Given the description of an element on the screen output the (x, y) to click on. 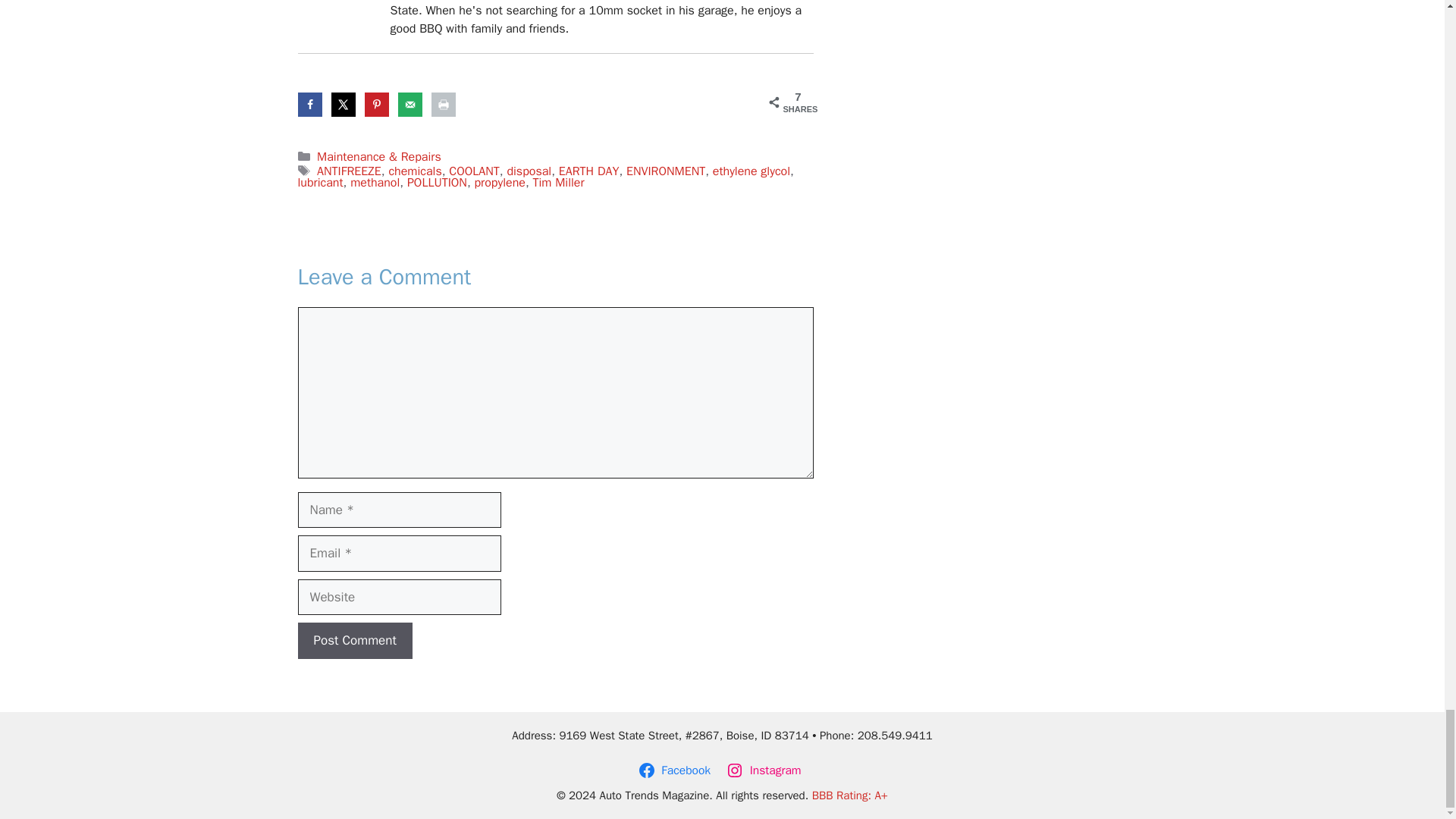
Post Comment (354, 640)
